Given the description of an element on the screen output the (x, y) to click on. 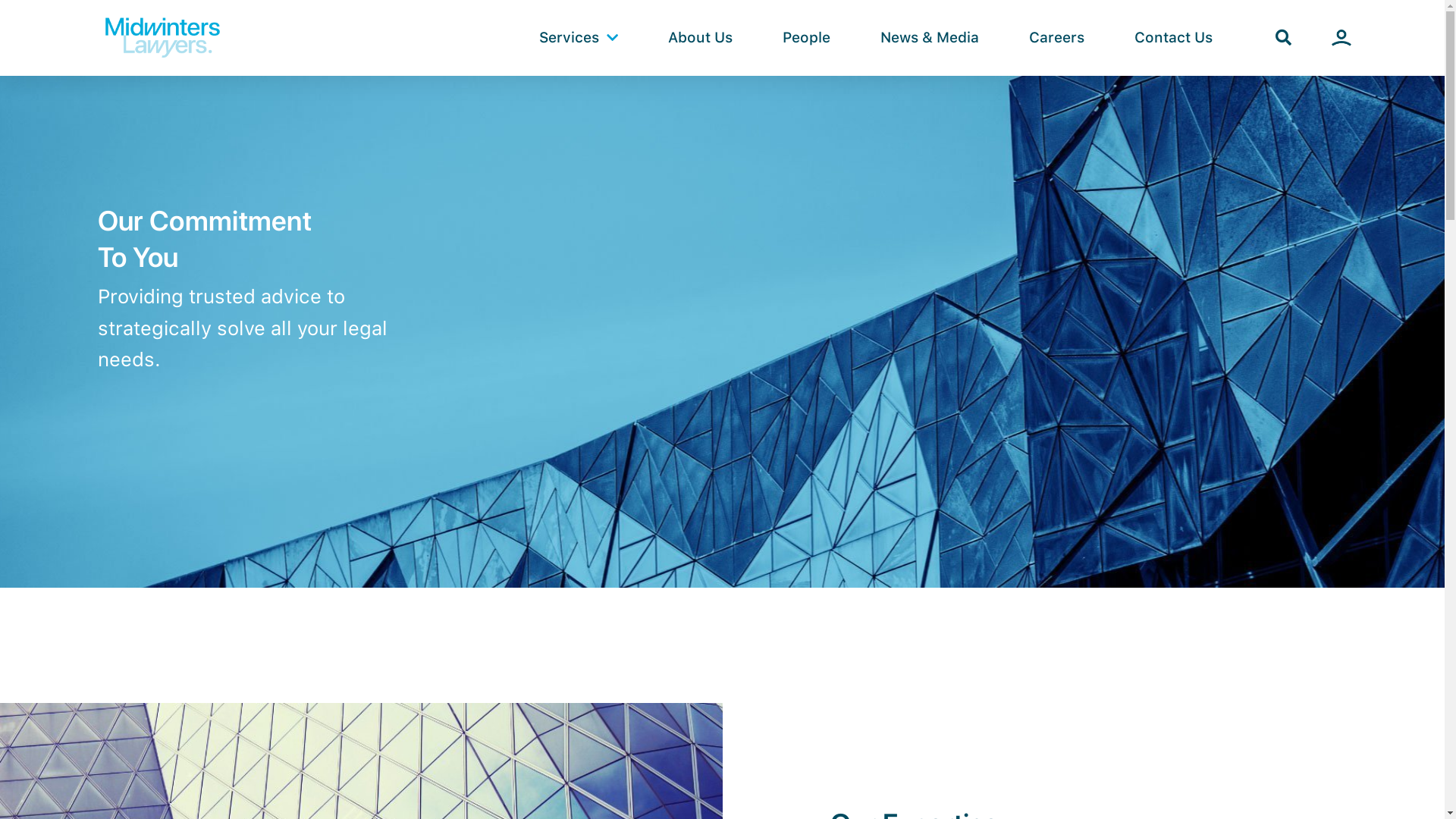
About Us Element type: text (700, 37)
News & Media Element type: text (929, 37)
Services Element type: text (578, 37)
Contact Us Element type: text (1173, 37)
Careers Element type: text (1056, 37)
People Element type: text (806, 37)
